Given the description of an element on the screen output the (x, y) to click on. 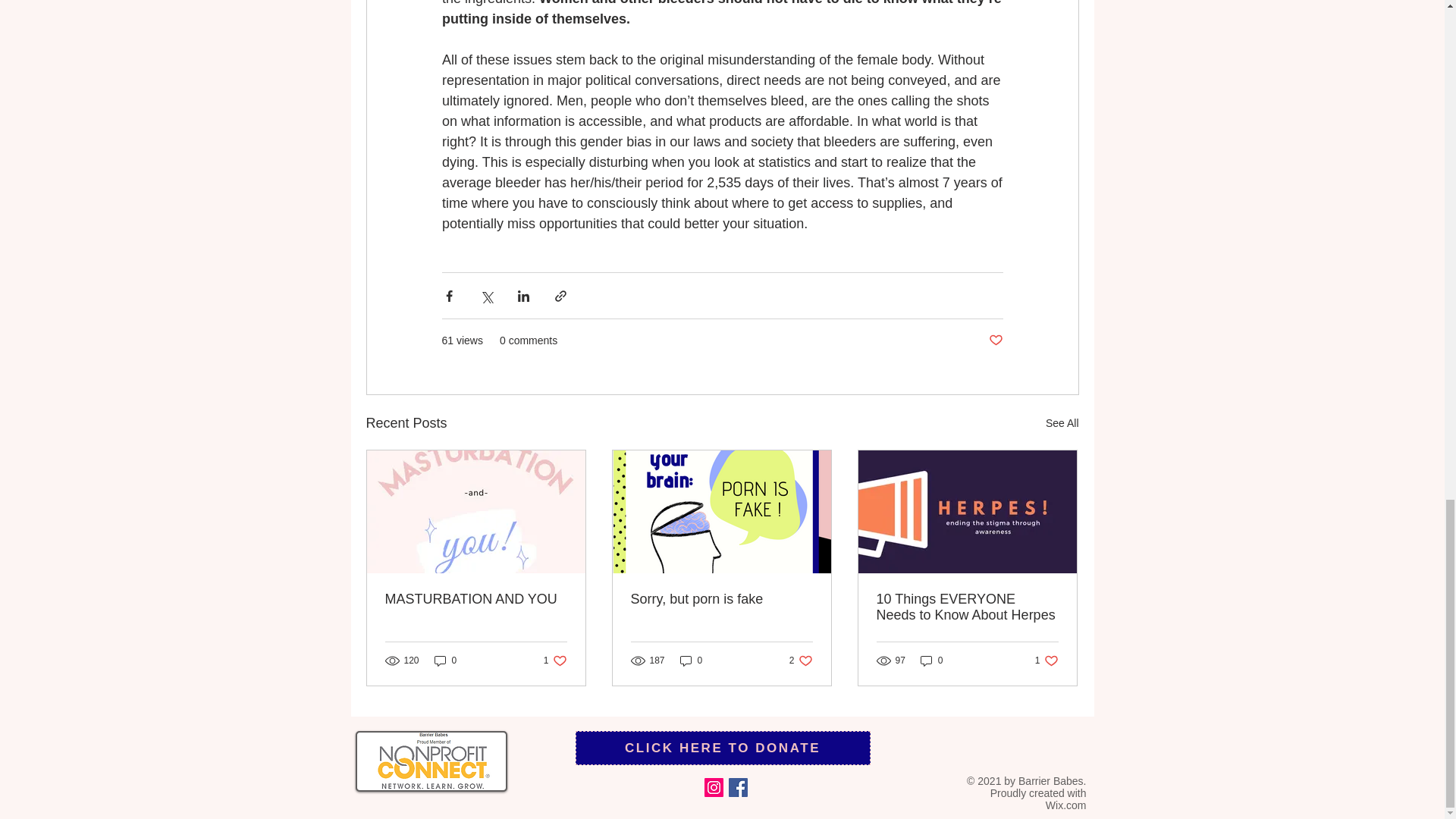
Wix.com (1065, 805)
See All (1061, 423)
0 (691, 659)
0 (445, 659)
10 Things EVERYONE Needs to Know About Herpes (555, 659)
Sorry, but porn is fake (967, 607)
CLICK HERE TO DONATE (721, 599)
Post not marked as liked (722, 747)
0 (995, 340)
MASTURBATION AND YOU (931, 659)
